Given the description of an element on the screen output the (x, y) to click on. 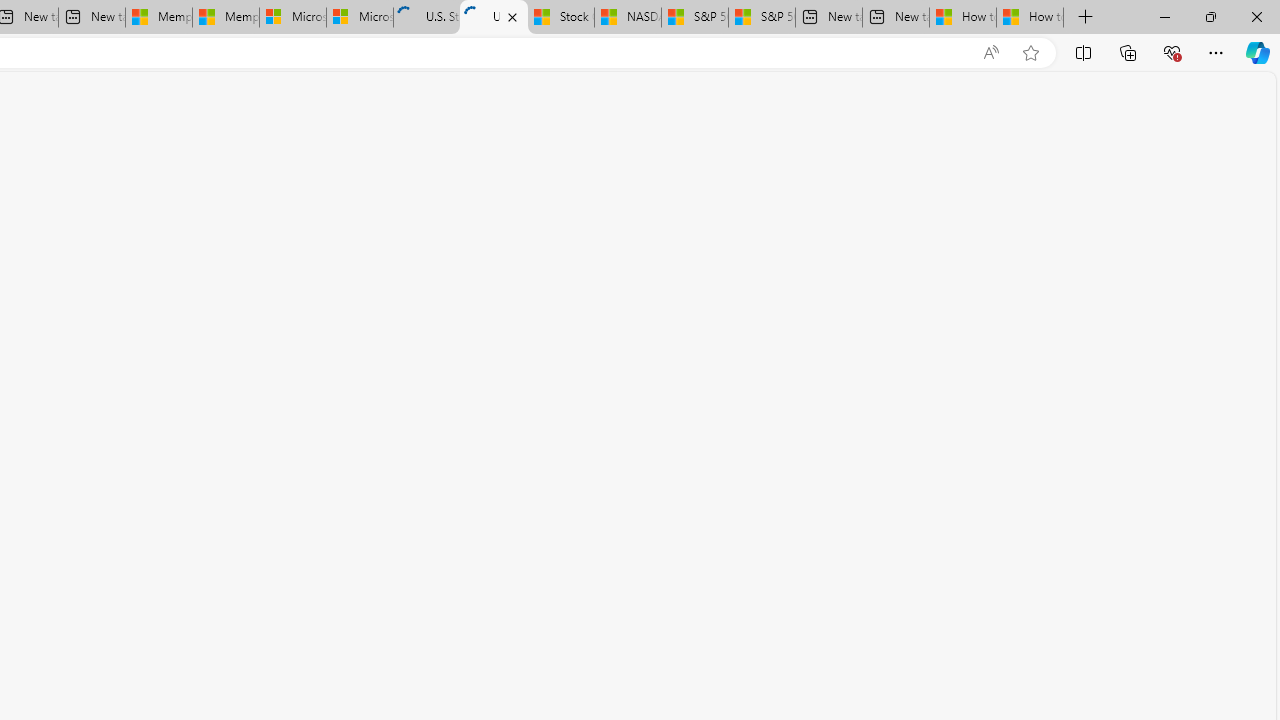
How to Use a Monitor With Your Closed Laptop (1030, 17)
